Given the description of an element on the screen output the (x, y) to click on. 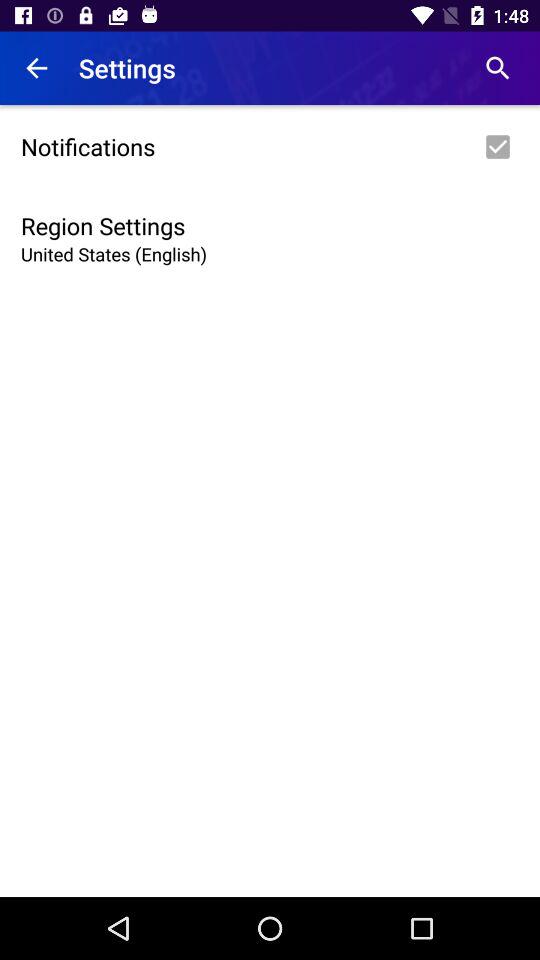
open the notifications icon (270, 147)
